Given the description of an element on the screen output the (x, y) to click on. 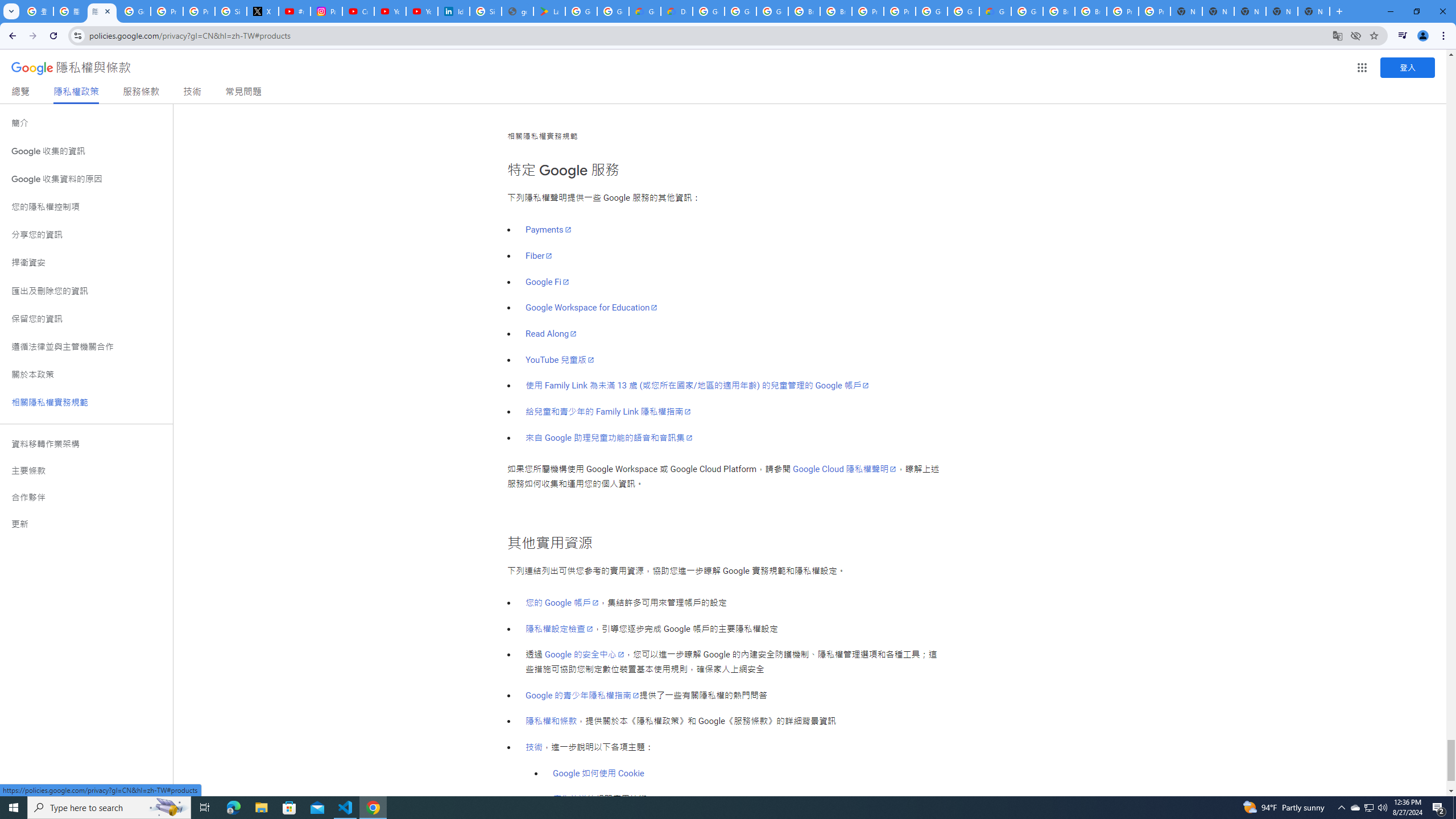
Google Cloud Platform (931, 11)
Browse Chrome as a guest - Computer - Google Chrome Help (1059, 11)
